Given the description of an element on the screen output the (x, y) to click on. 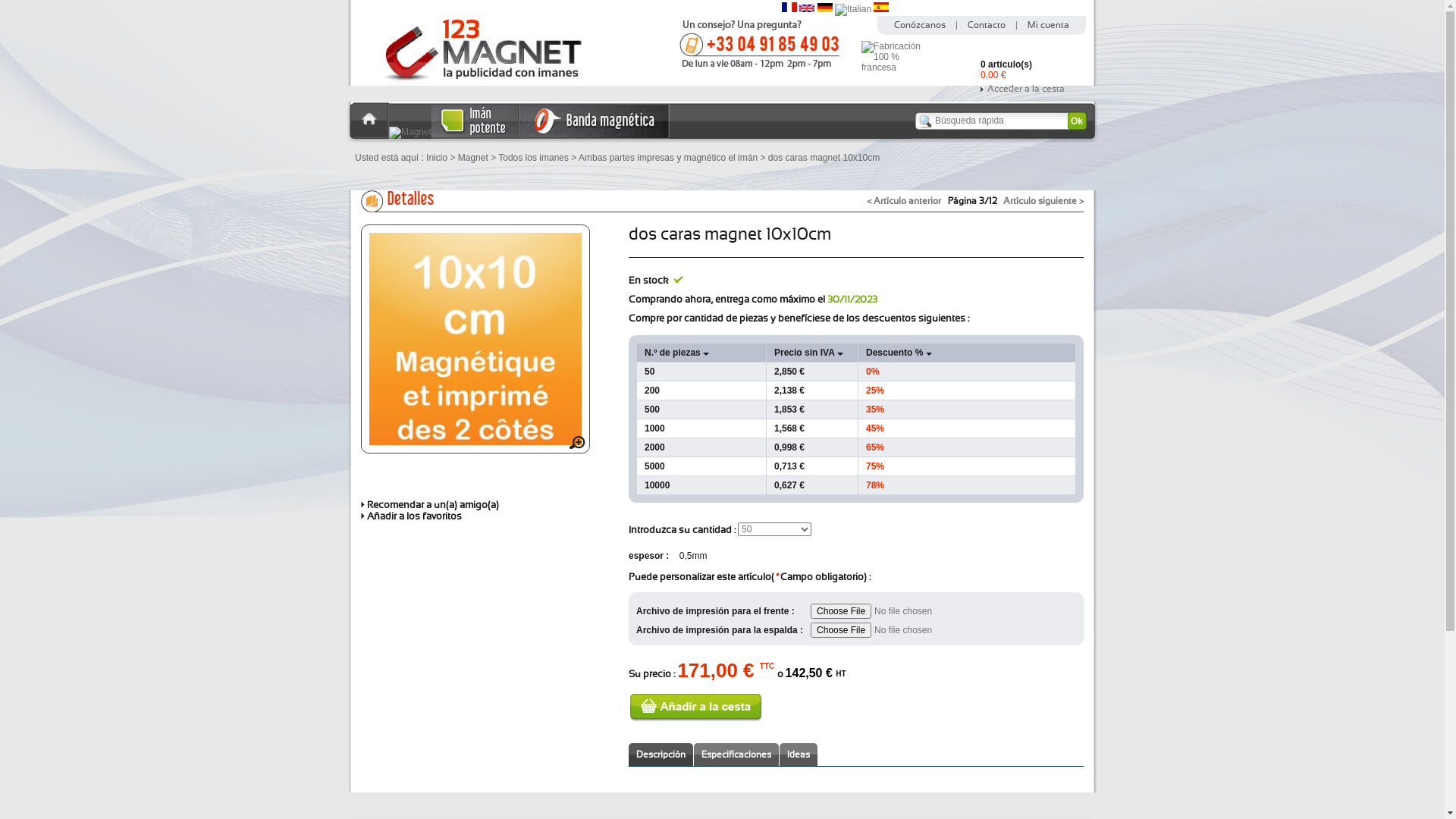
Italian Element type: hover (852, 8)
Magnet Element type: text (473, 157)
Contacto Element type: hover (759, 66)
Acceder a la cesta Element type: text (1032, 88)
Inicio Element type: hover (371, 134)
Todos los imanes Element type: text (533, 157)
English Element type: hover (806, 8)
Magnet Element type: hover (410, 131)
Deutsch Element type: hover (824, 8)
123 Magnet, la publicidad con imanes Element type: hover (469, 82)
Mi cuenta Element type: text (1048, 24)
Ver mi cesta Element type: hover (956, 60)
Inicio Element type: text (436, 157)
Ideas Element type: text (798, 754)
Contacto Element type: text (986, 24)
Especificaciones Element type: text (735, 754)
Zoom Element type: hover (577, 445)
Imanes Element type: hover (475, 135)
Recomendar a un(a) amigo(a) Element type: text (429, 504)
